Given the description of an element on the screen output the (x, y) to click on. 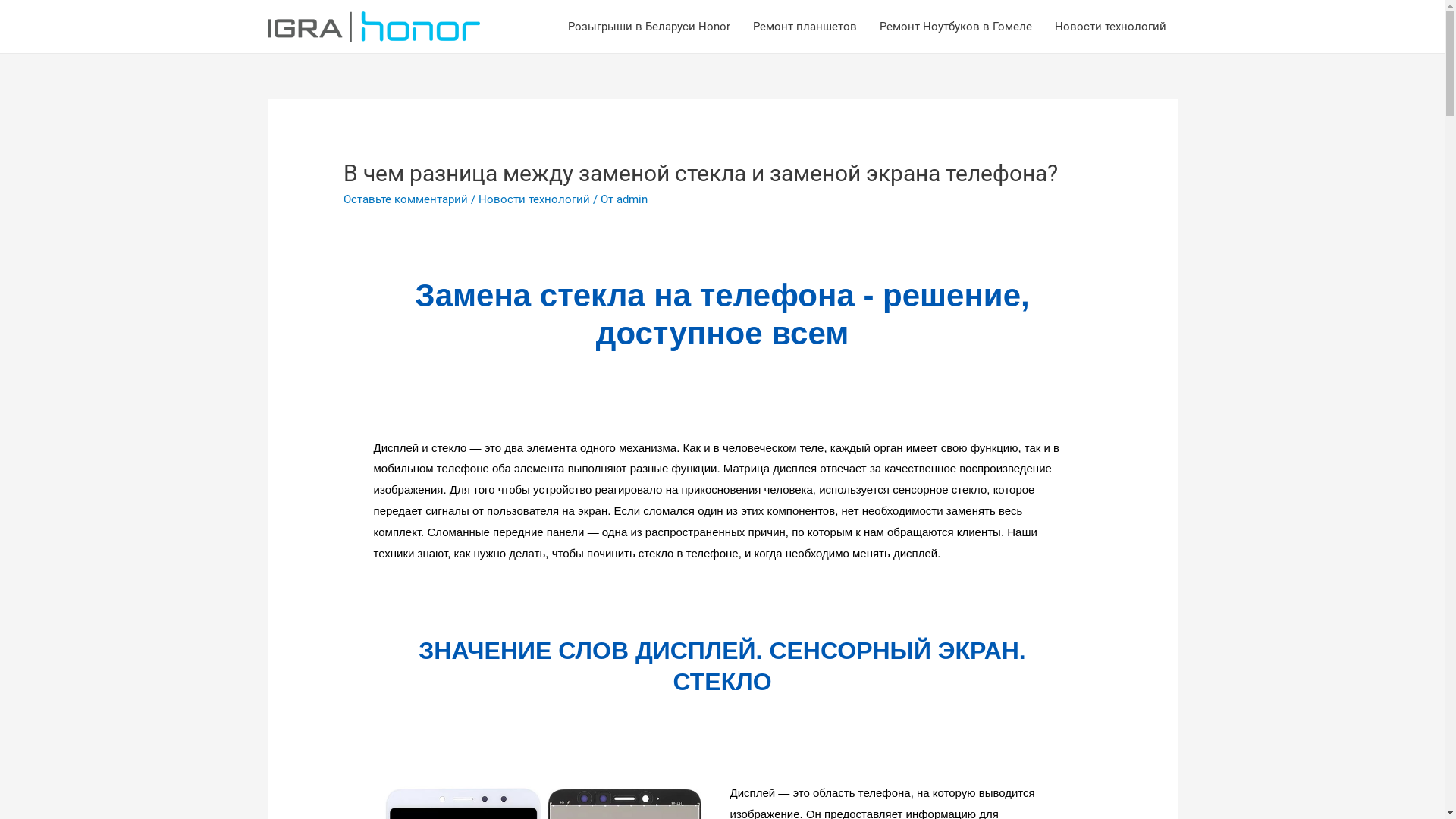
admin Element type: text (631, 199)
